Given the description of an element on the screen output the (x, y) to click on. 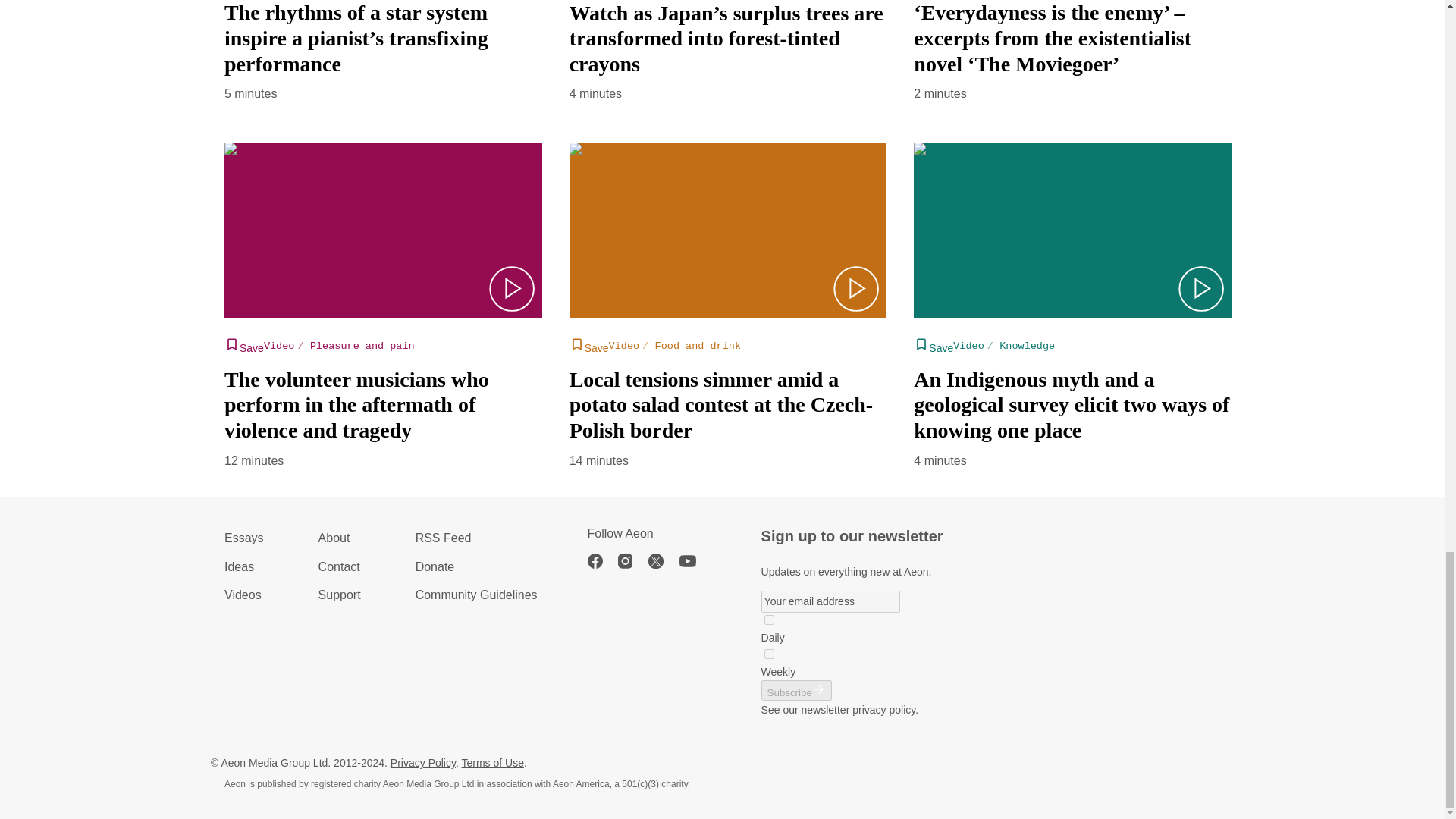
Videos (243, 595)
About (339, 538)
Essays (243, 538)
Facebook (602, 560)
Ideas (243, 566)
YouTube (695, 560)
on (769, 619)
